Given the description of an element on the screen output the (x, y) to click on. 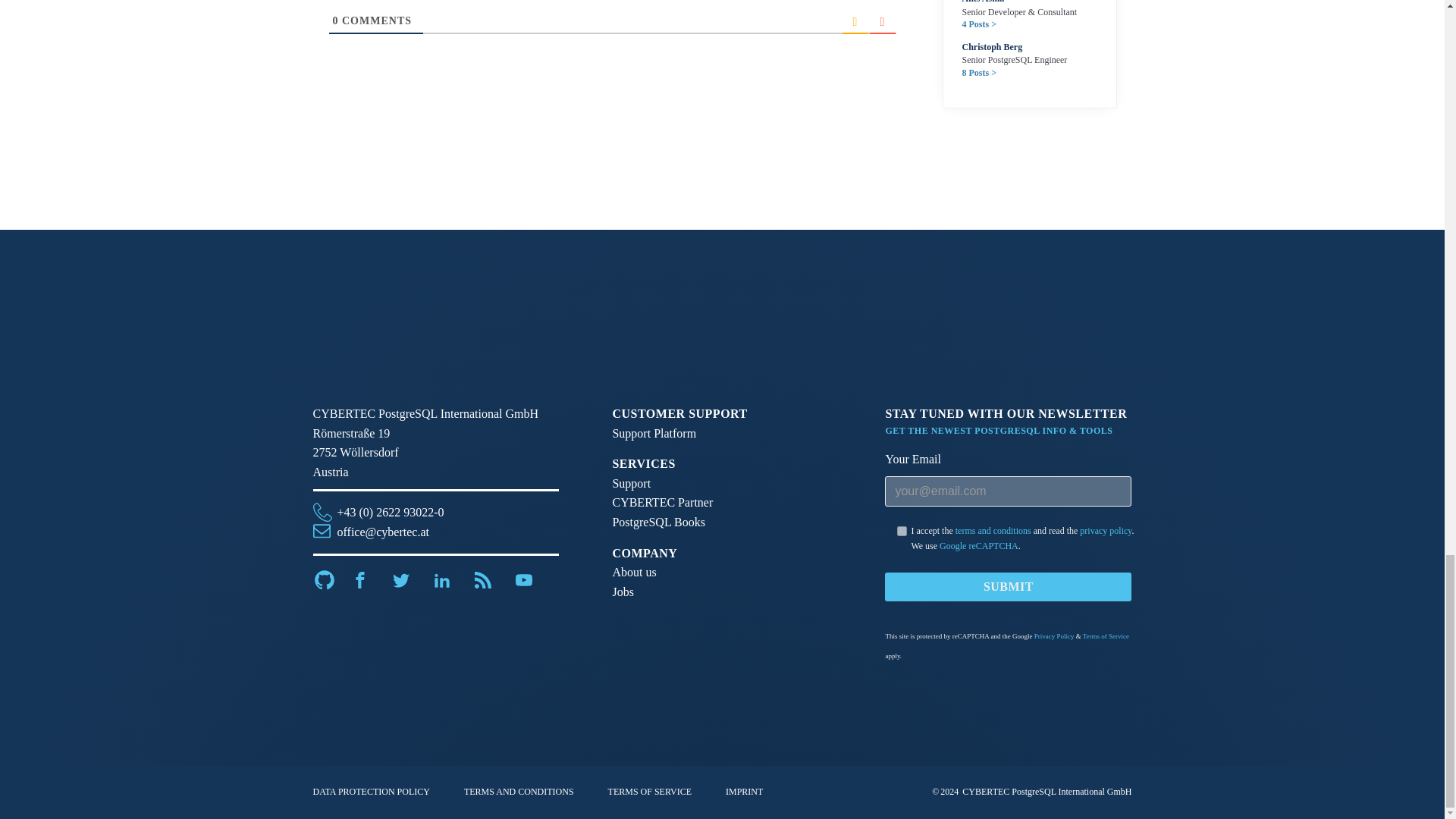
Submit (1008, 586)
